Given the description of an element on the screen output the (x, y) to click on. 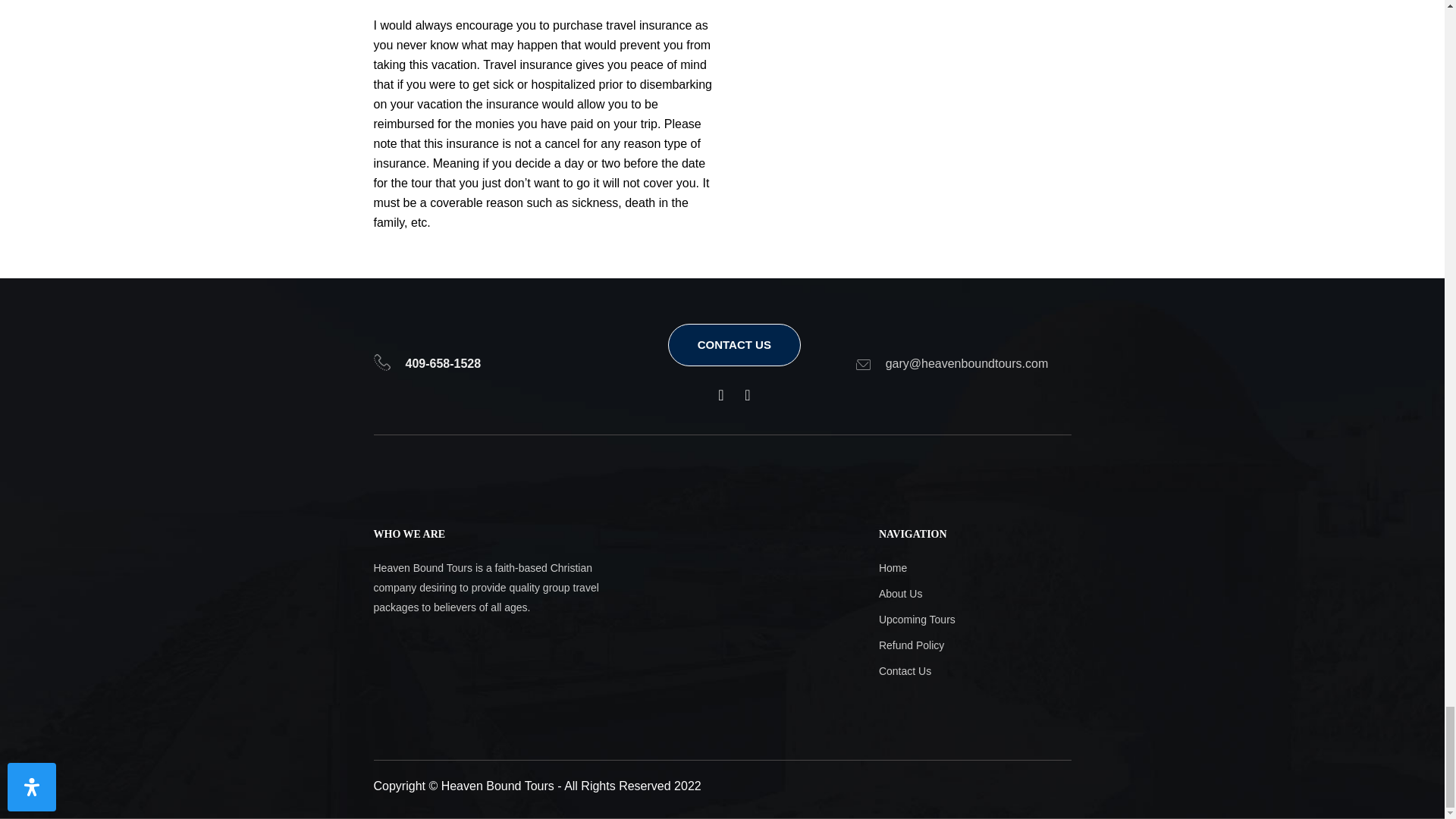
CONTACT US (734, 344)
About Us (948, 593)
Refund Policy (948, 645)
409-658-1528 (442, 363)
Contact Us (948, 670)
Home (948, 567)
Upcoming Tours (948, 619)
